Given the description of an element on the screen output the (x, y) to click on. 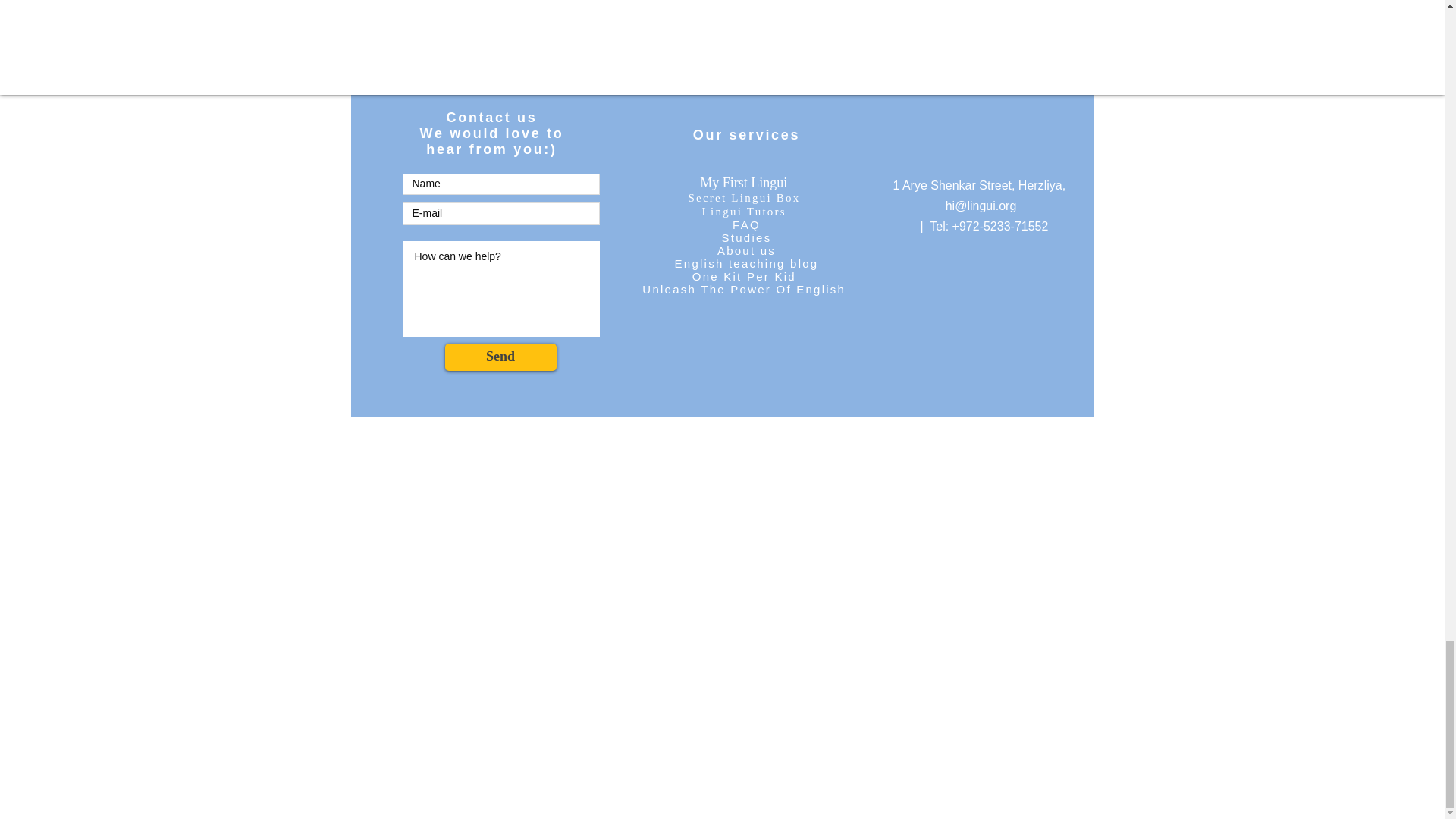
Get your first month for free (746, 41)
Order now (746, 14)
Send (500, 357)
